Given the description of an element on the screen output the (x, y) to click on. 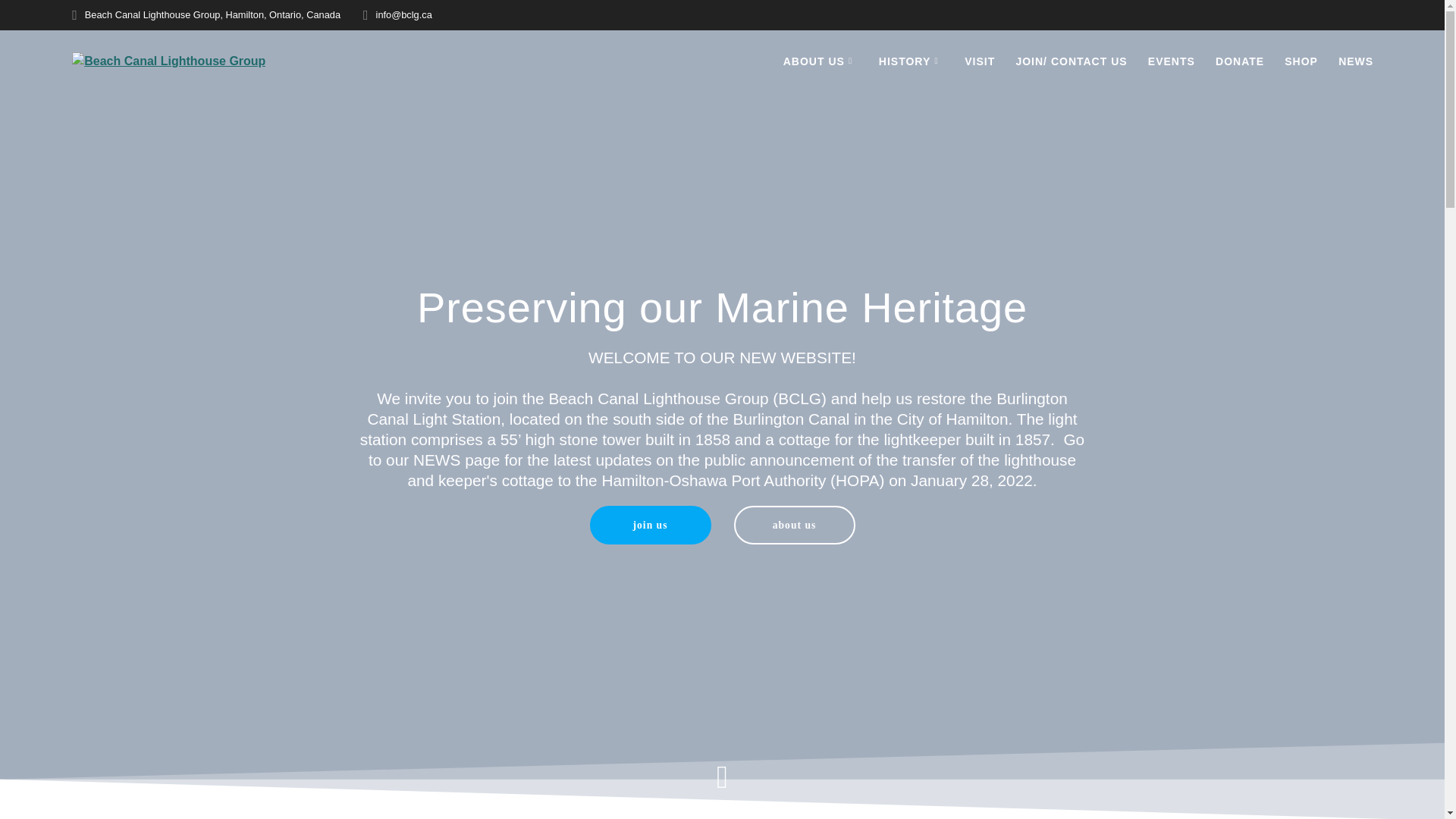
about us Element type: text (794, 524)
JOIN/ CONTACT US Element type: text (1070, 61)
ABOUT US Element type: text (820, 61)
VISIT Element type: text (979, 61)
SHOP Element type: text (1300, 61)
DONATE Element type: text (1239, 61)
NEWS Element type: text (1355, 61)
HISTORY Element type: text (911, 61)
join us Element type: text (650, 524)
EVENTS Element type: text (1171, 61)
